Given the description of an element on the screen output the (x, y) to click on. 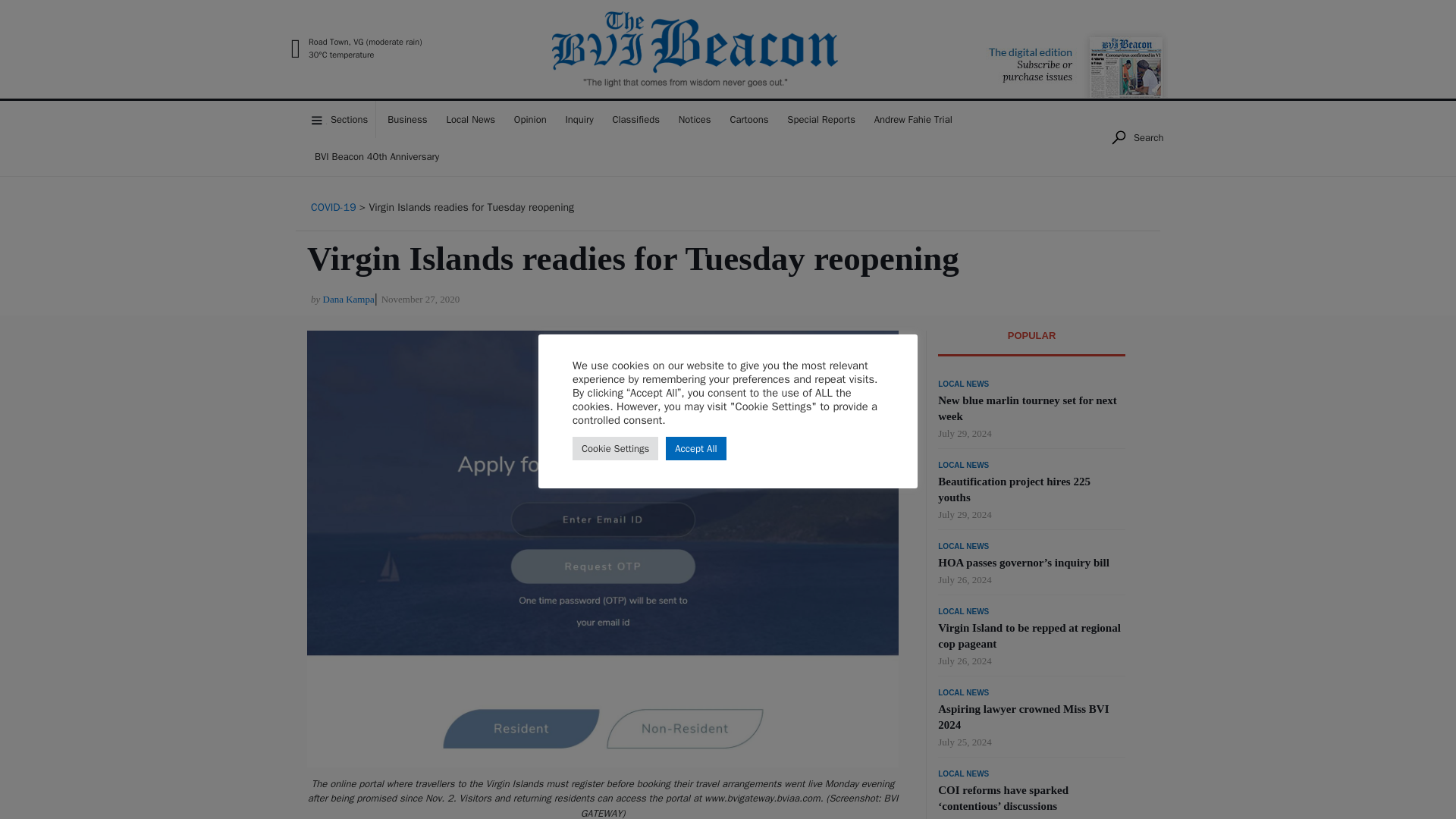
Sections (341, 119)
The BVI Beacon (491, 94)
Inquiry (578, 119)
Cartoons (749, 119)
Classifieds (635, 119)
BVI Beacon 40th Anniversary (376, 157)
Special Reports (820, 119)
Search (1136, 137)
Local News (470, 119)
LOCAL NEWS (962, 384)
Notices (695, 119)
Andrew Fahie Trial (912, 119)
Posts by Dana Kampa (348, 298)
New blue marlin tourney set for next week (1026, 407)
COVID-19 (333, 206)
